Given the description of an element on the screen output the (x, y) to click on. 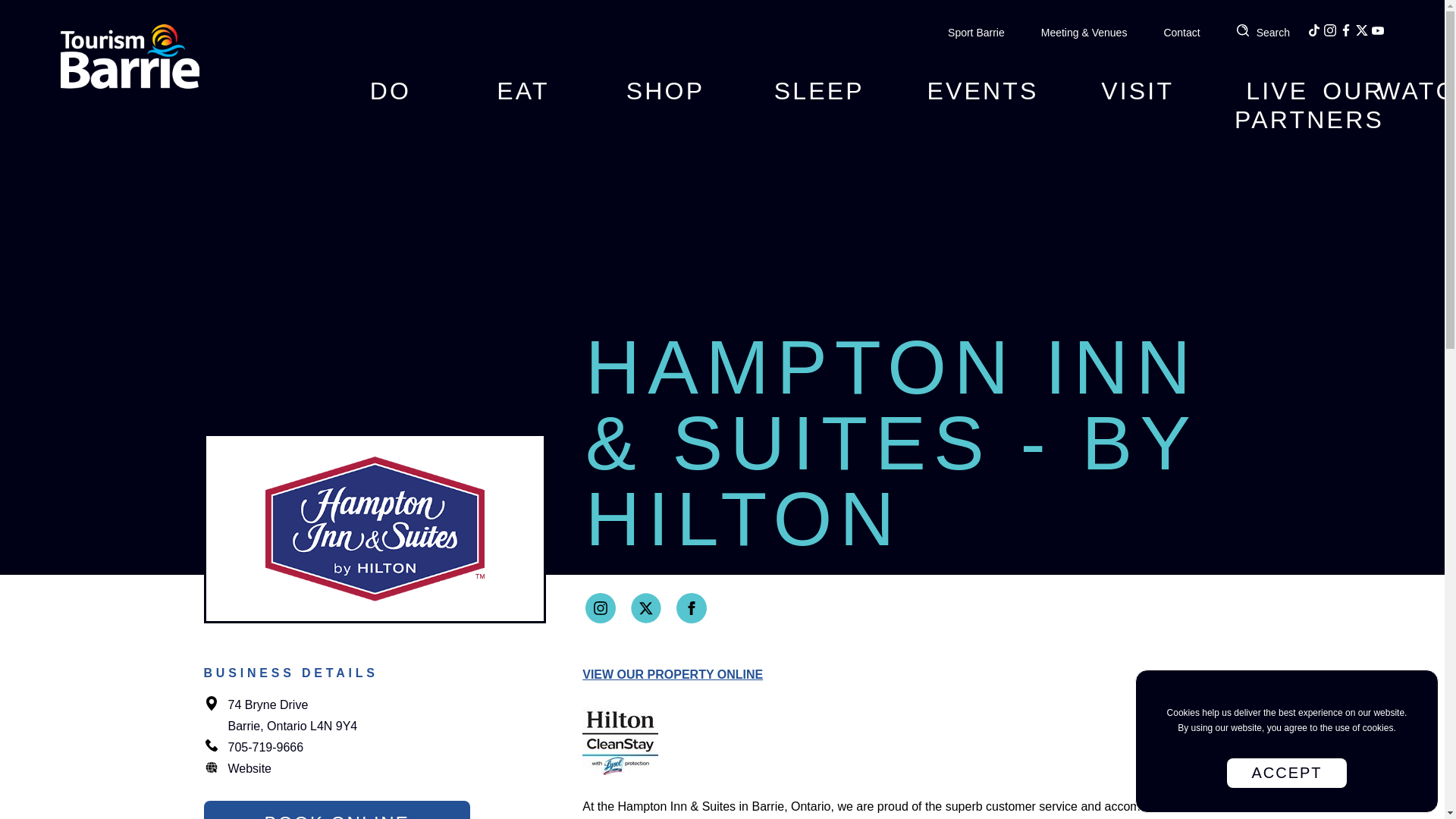
Search (1263, 32)
EAT (523, 101)
LiveChat chat widget (1338, 747)
Tourism Barrie - White (130, 56)
SHOP (665, 101)
DO (389, 101)
LIVE (1277, 101)
Contact (1181, 32)
Sport Barrie (975, 32)
VISIT (1137, 101)
Hampton Clean stay logo (620, 740)
SLEEP (818, 101)
EVENTS (982, 101)
